Given the description of an element on the screen output the (x, y) to click on. 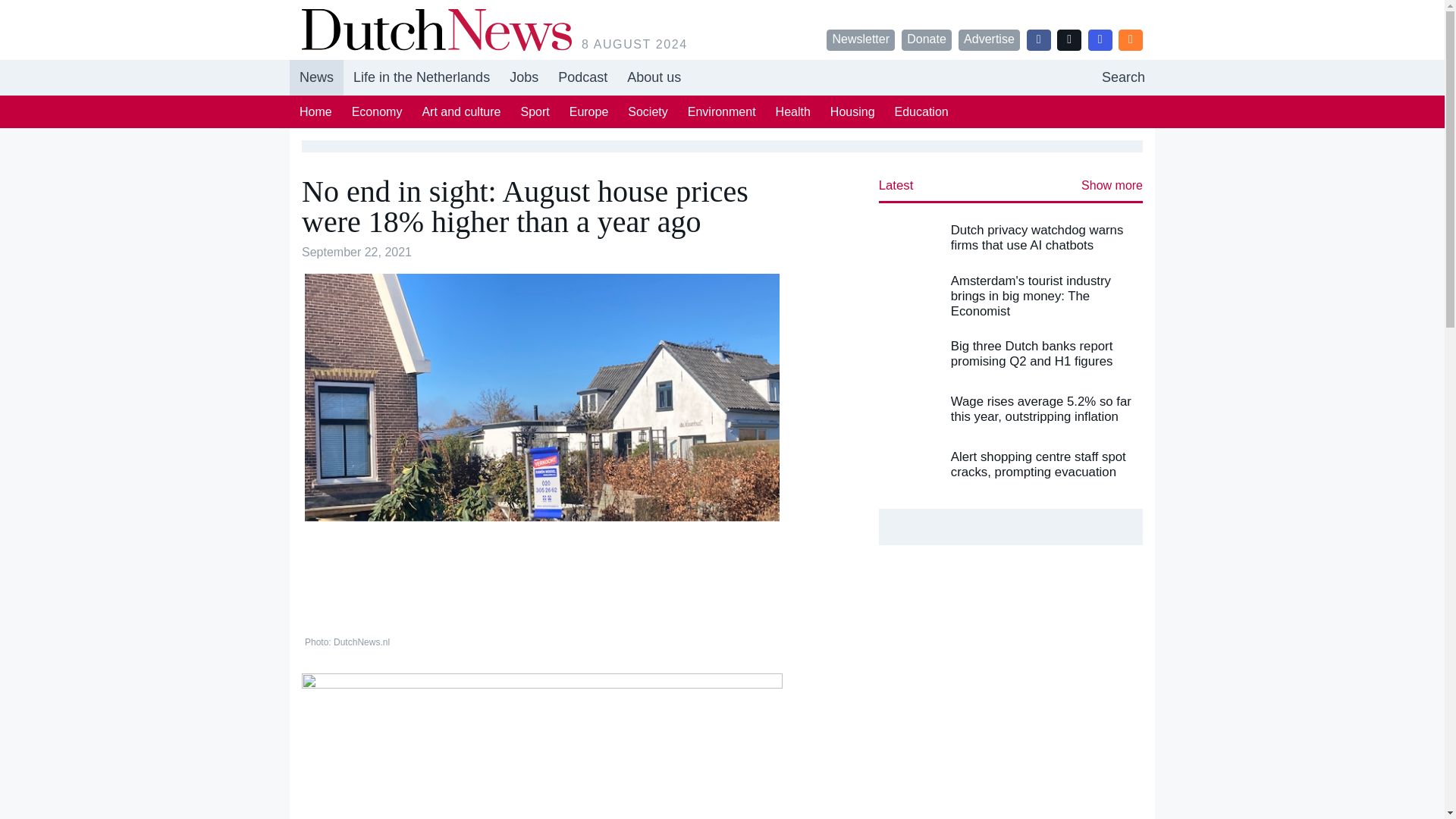
Life in the Netherlands (421, 77)
Education (921, 111)
Advertise (989, 39)
Donate (721, 77)
Home (926, 39)
Society (315, 111)
Newsletter (647, 111)
Jobs (861, 39)
